Given the description of an element on the screen output the (x, y) to click on. 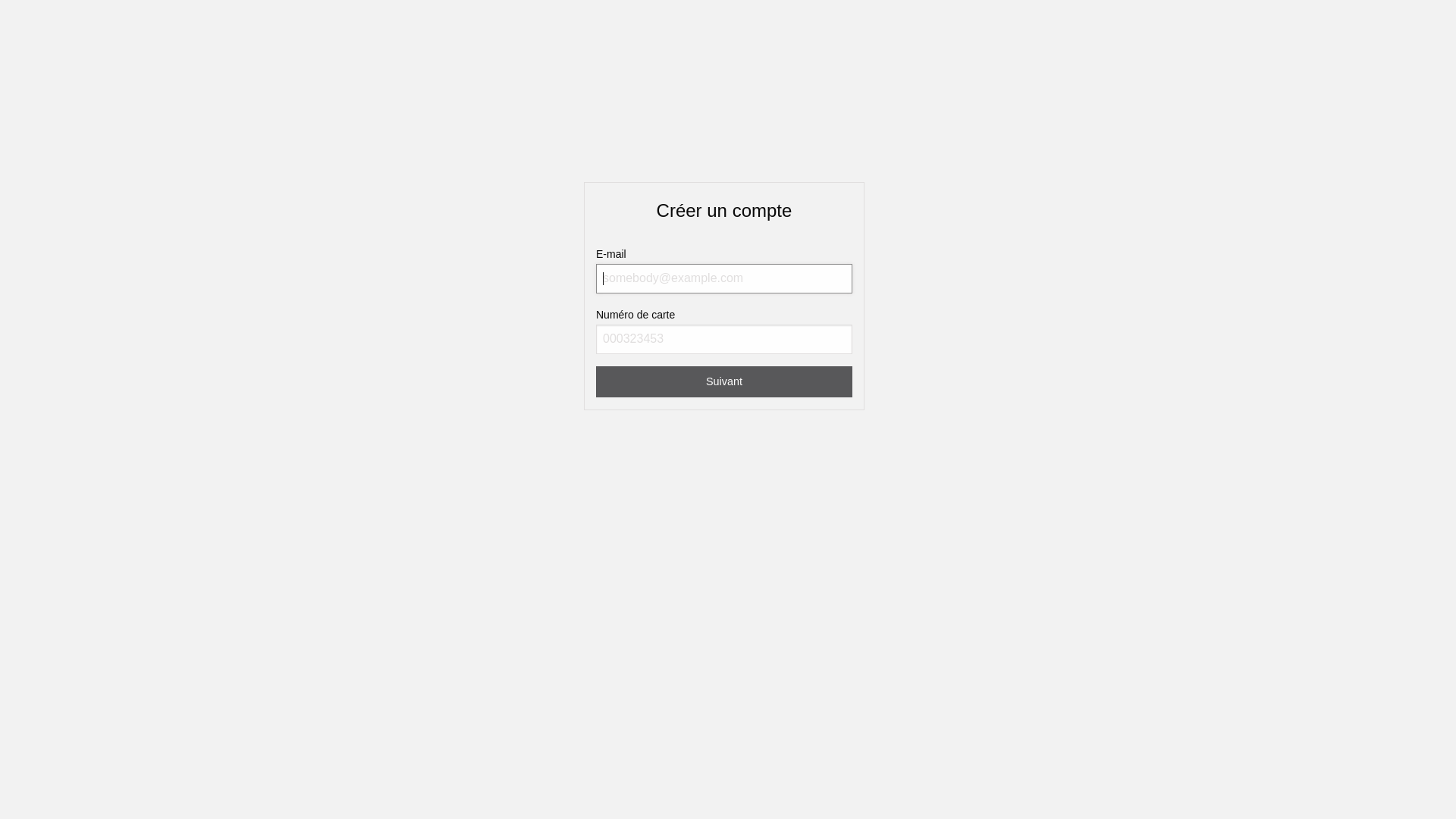
Suivant Element type: text (724, 381)
